Given the description of an element on the screen output the (x, y) to click on. 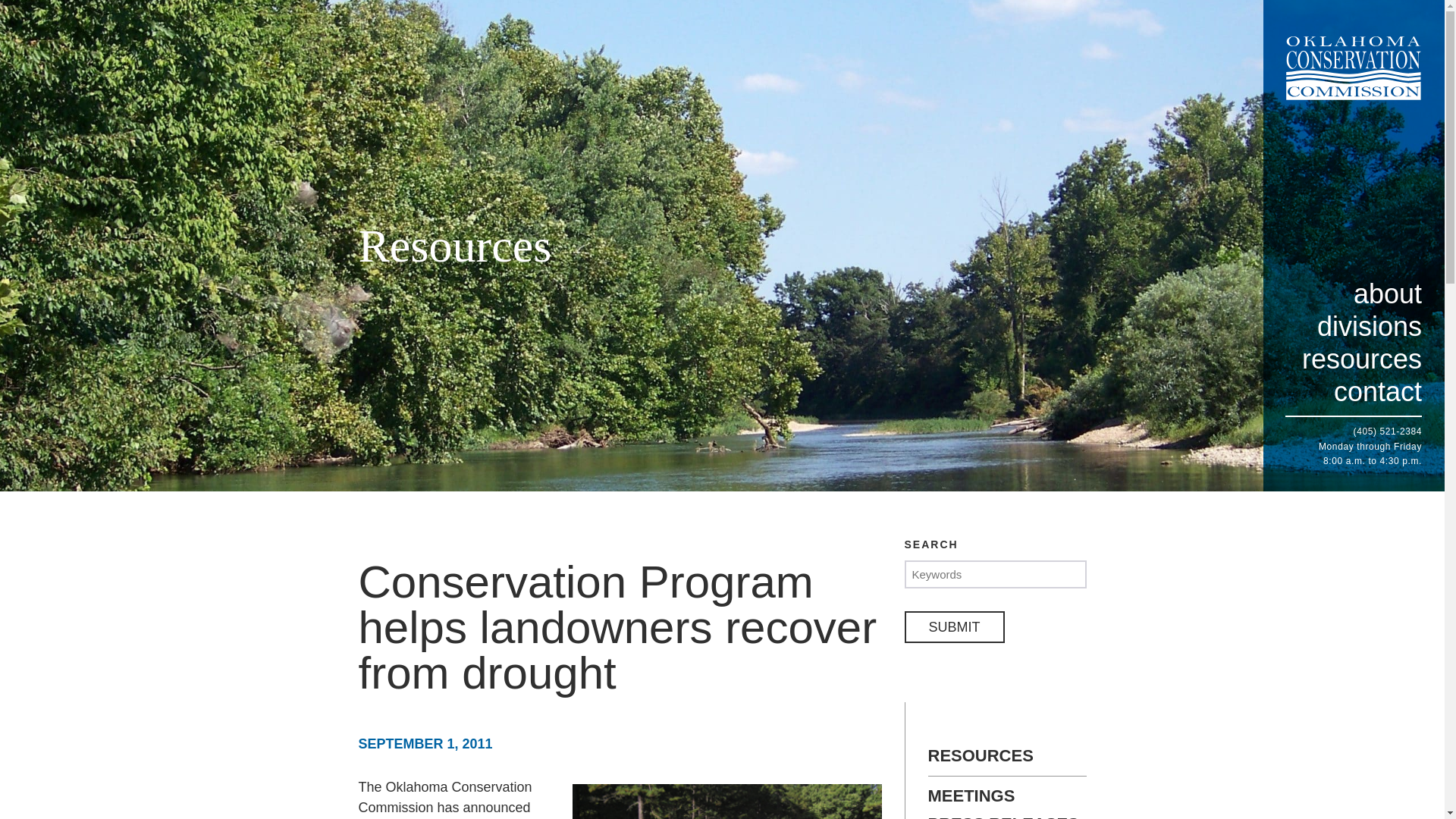
MEETINGS (1007, 795)
resources (1353, 359)
divisions (1353, 326)
about (1353, 293)
PRESS RELEASES (1007, 817)
SUBMIT (954, 626)
contact (1353, 391)
RESOURCES (1007, 761)
